Given the description of an element on the screen output the (x, y) to click on. 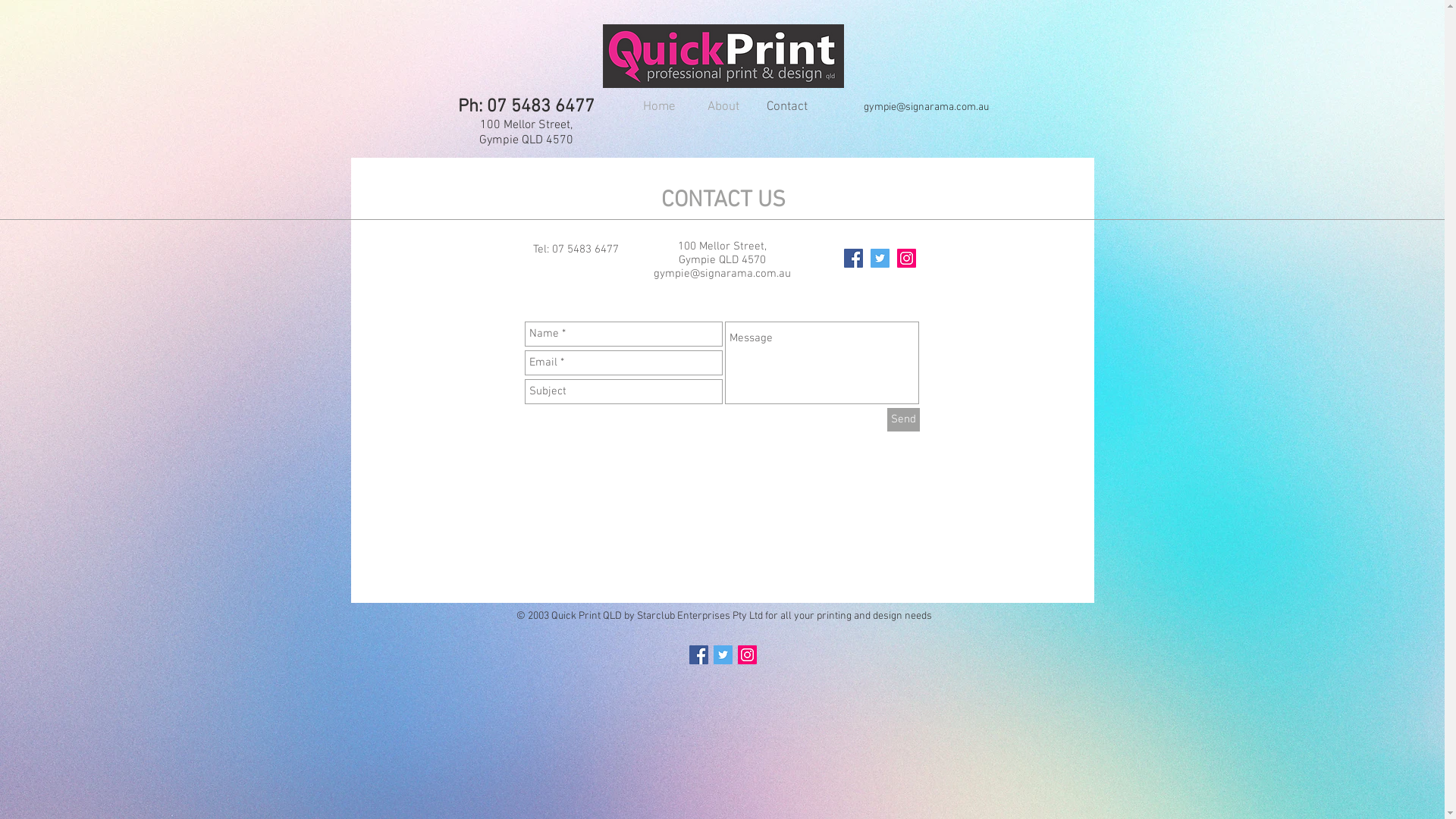
gympie@signarama.com.au Element type: text (721, 273)
Send Element type: text (903, 419)
Google Maps Element type: hover (720, 523)
gympie@signarama.com.au Element type: text (925, 106)
About Element type: text (723, 107)
Home Element type: text (659, 107)
Contact Element type: text (787, 107)
